Given the description of an element on the screen output the (x, y) to click on. 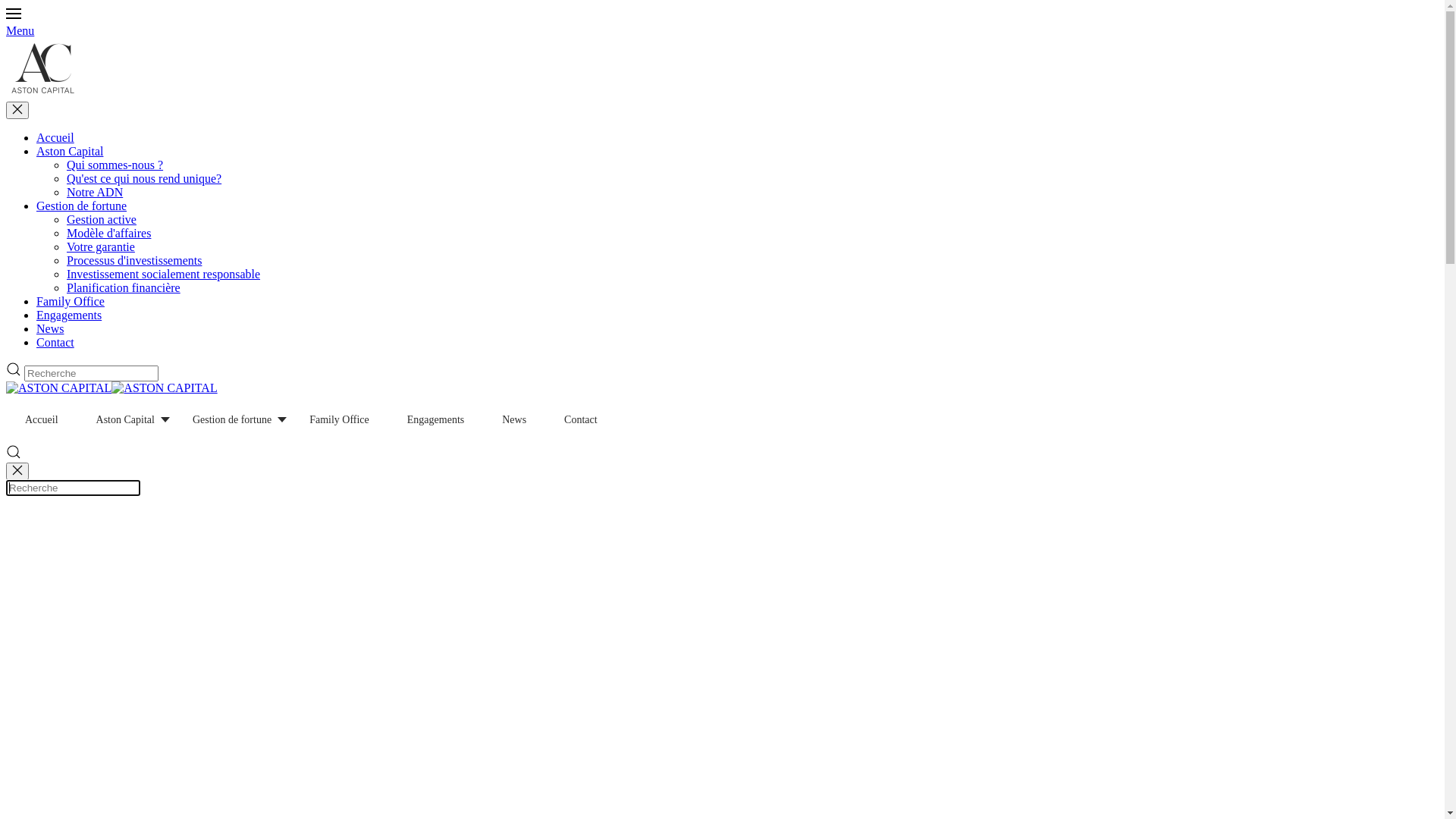
Gestion de fortune Element type: text (81, 205)
Engagements Element type: text (435, 419)
Gestion active Element type: text (101, 219)
Processus d'investissements Element type: text (133, 260)
Engagements Element type: text (68, 314)
Qu'est ce qui nous rend unique? Element type: text (143, 178)
Investissement socialement responsable Element type: text (163, 273)
Contact Element type: text (580, 419)
Qui sommes-nous ? Element type: text (114, 164)
Aston Capital Element type: text (125, 419)
Accueil Element type: text (41, 419)
Gestion de fortune Element type: text (231, 419)
Aston Capital Element type: text (69, 150)
Votre garantie Element type: text (100, 246)
Family Office Element type: text (70, 300)
News Element type: text (514, 419)
Contact Element type: text (55, 341)
Menu Element type: text (722, 21)
Notre ADN Element type: text (94, 191)
Family Office Element type: text (339, 419)
Accueil Element type: text (55, 137)
News Element type: text (49, 328)
